Given the description of an element on the screen output the (x, y) to click on. 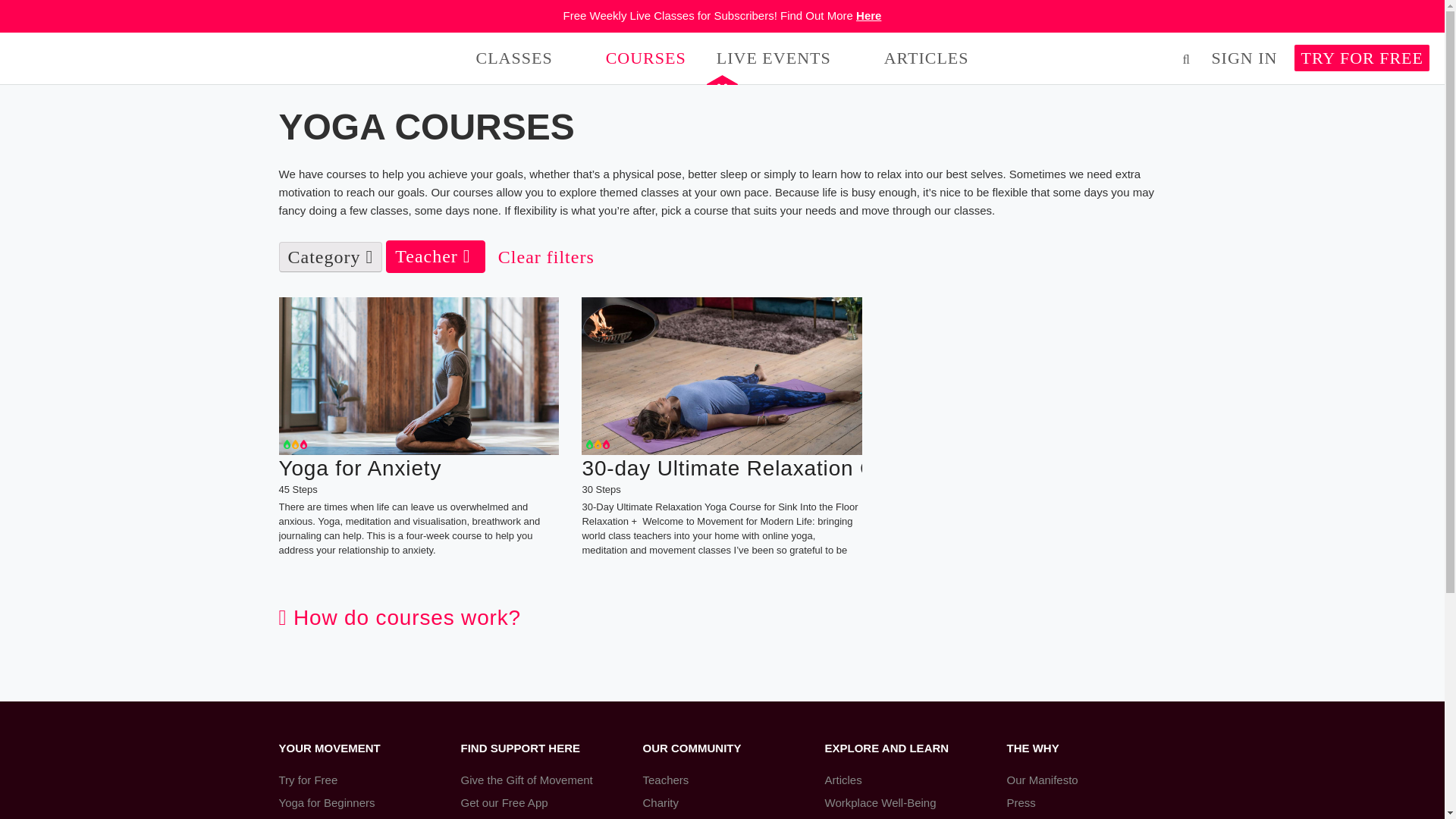
Yoga for Anxiety (419, 376)
LIVE EVENTS (773, 57)
SIGN IN (1243, 57)
30-day Ultimate Relaxation Course (720, 376)
Here (868, 15)
Category (330, 256)
Yoga for Anxiety (419, 467)
TRY FOR FREE (1361, 57)
Teacher (434, 256)
CLASSES (514, 57)
ARTICLES (926, 57)
30-day Ultimate Relaxation Course (720, 467)
COURSES (645, 57)
